Given the description of an element on the screen output the (x, y) to click on. 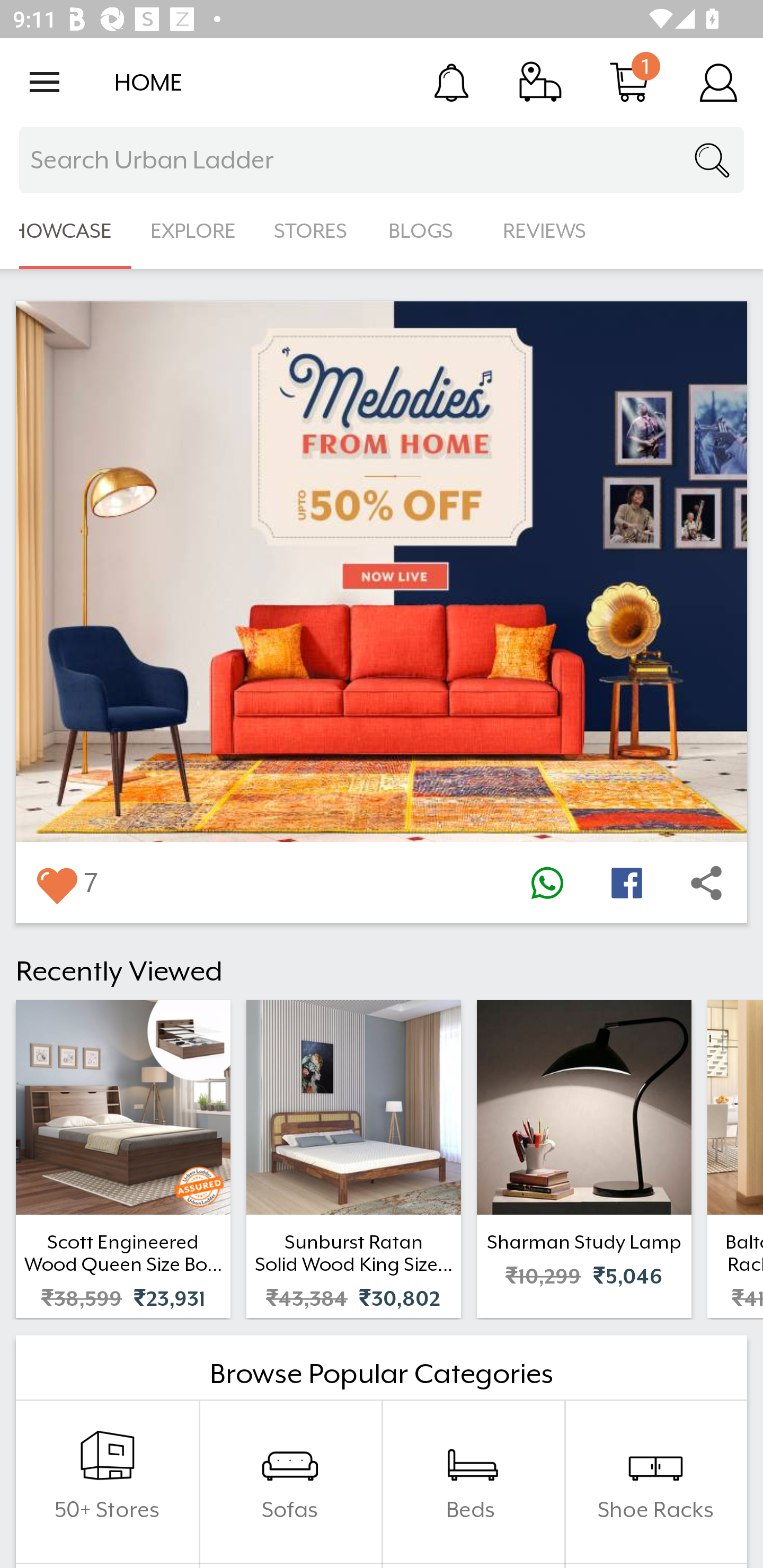
Open navigation drawer (44, 82)
Notification (450, 81)
Track Order (540, 81)
Cart (629, 81)
Account Details (718, 81)
Search Urban Ladder  (381, 159)
SHOWCASE (65, 230)
EXPLORE (192, 230)
STORES (311, 230)
BLOGS (426, 230)
REVIEWS (544, 230)
 (55, 882)
 (547, 882)
 (626, 882)
 (706, 882)
Sharman Study Lamp ₹10,299 ₹5,046 (583, 1159)
50+ Stores (106, 1481)
Sofas (289, 1481)
Beds  (473, 1481)
Shoe Racks (655, 1481)
